Given the description of an element on the screen output the (x, y) to click on. 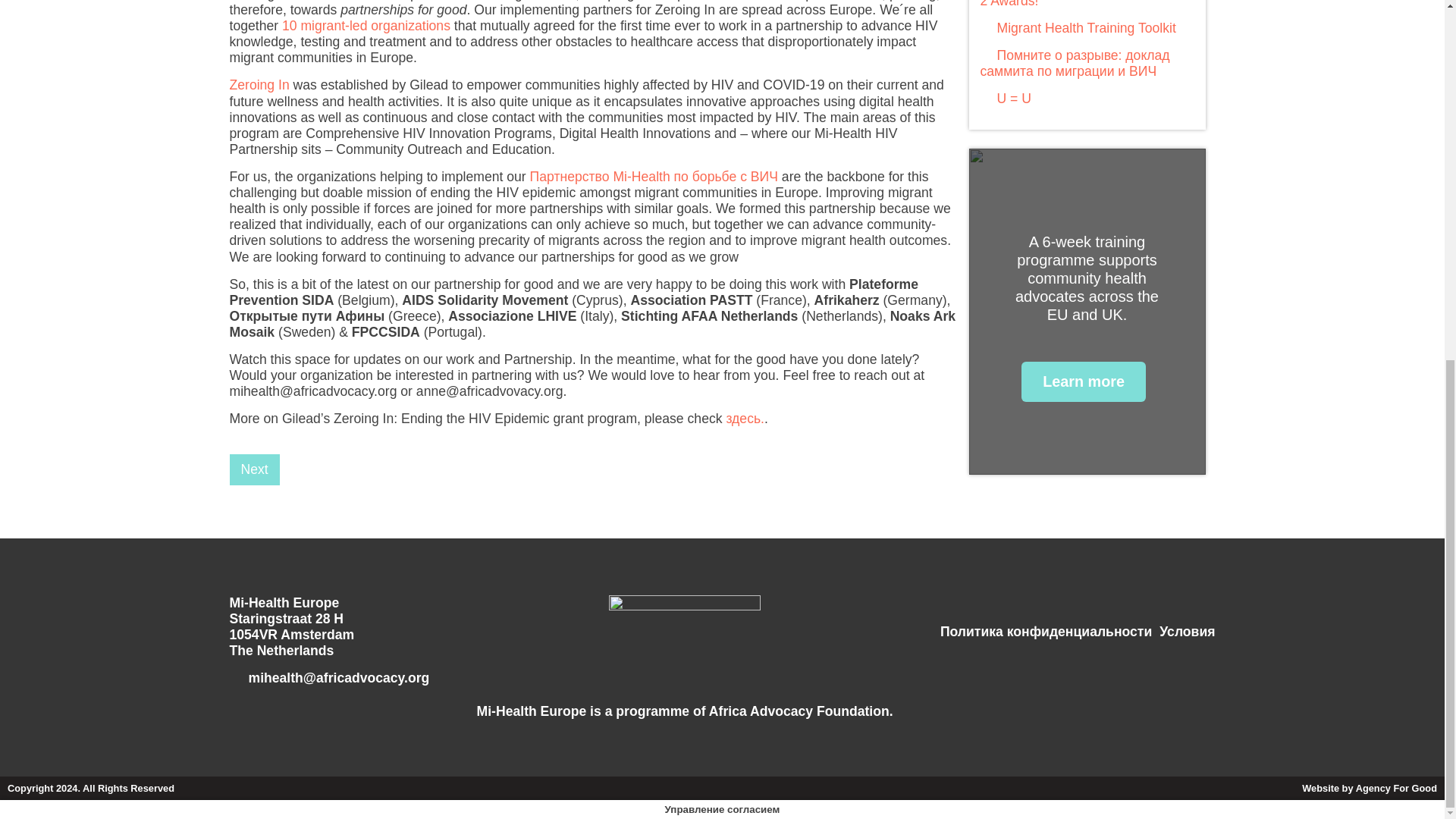
Zeroing In (258, 84)
Professional Web Design (1369, 787)
10 migrant-led organizations (365, 25)
Next (253, 469)
